Given the description of an element on the screen output the (x, y) to click on. 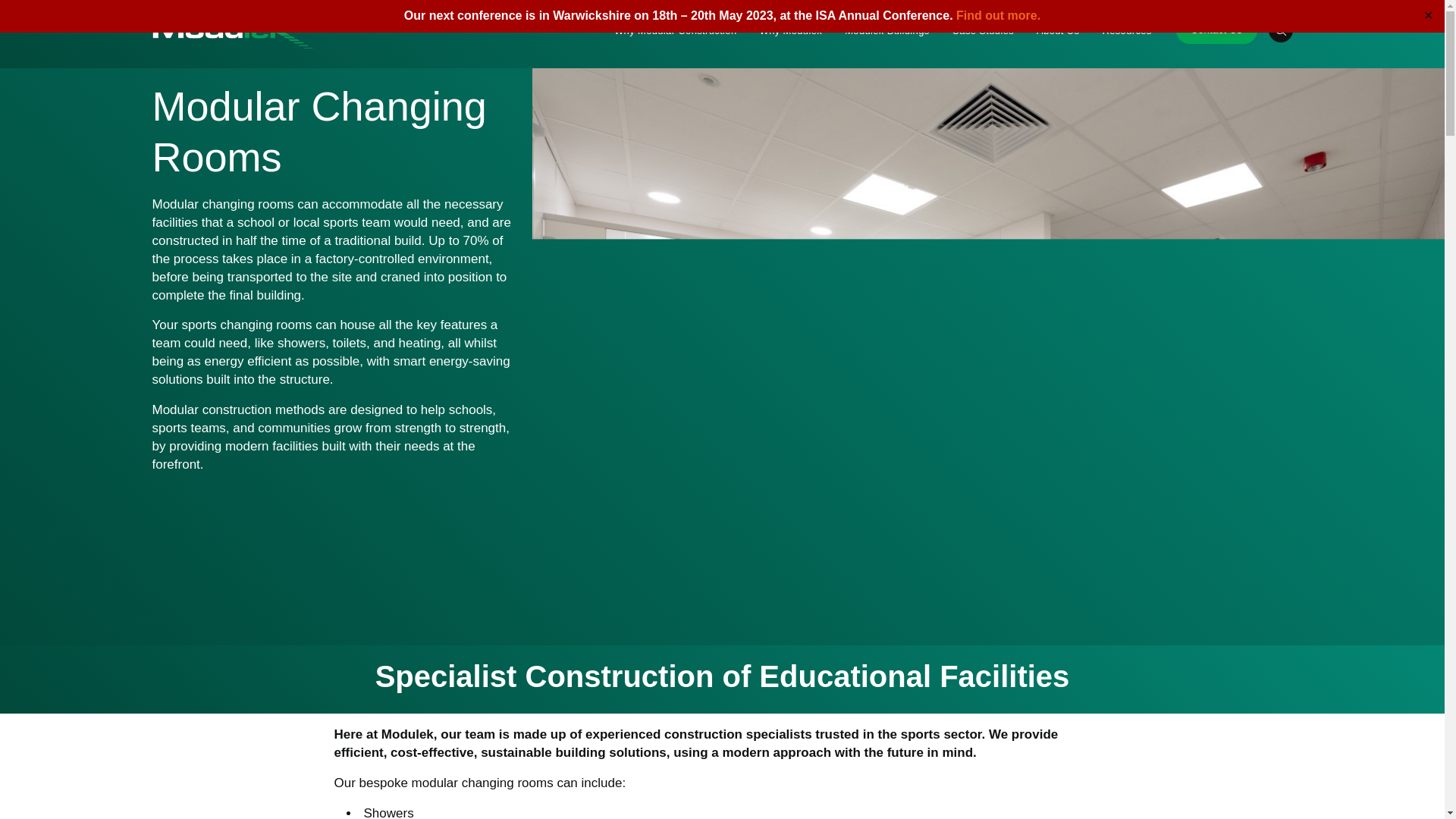
Case Studies (983, 30)
Find out more. (998, 15)
About Us (1057, 30)
Why Modular Construction (675, 30)
Modulek Buildings (886, 30)
Why Modulek (791, 30)
